Given the description of an element on the screen output the (x, y) to click on. 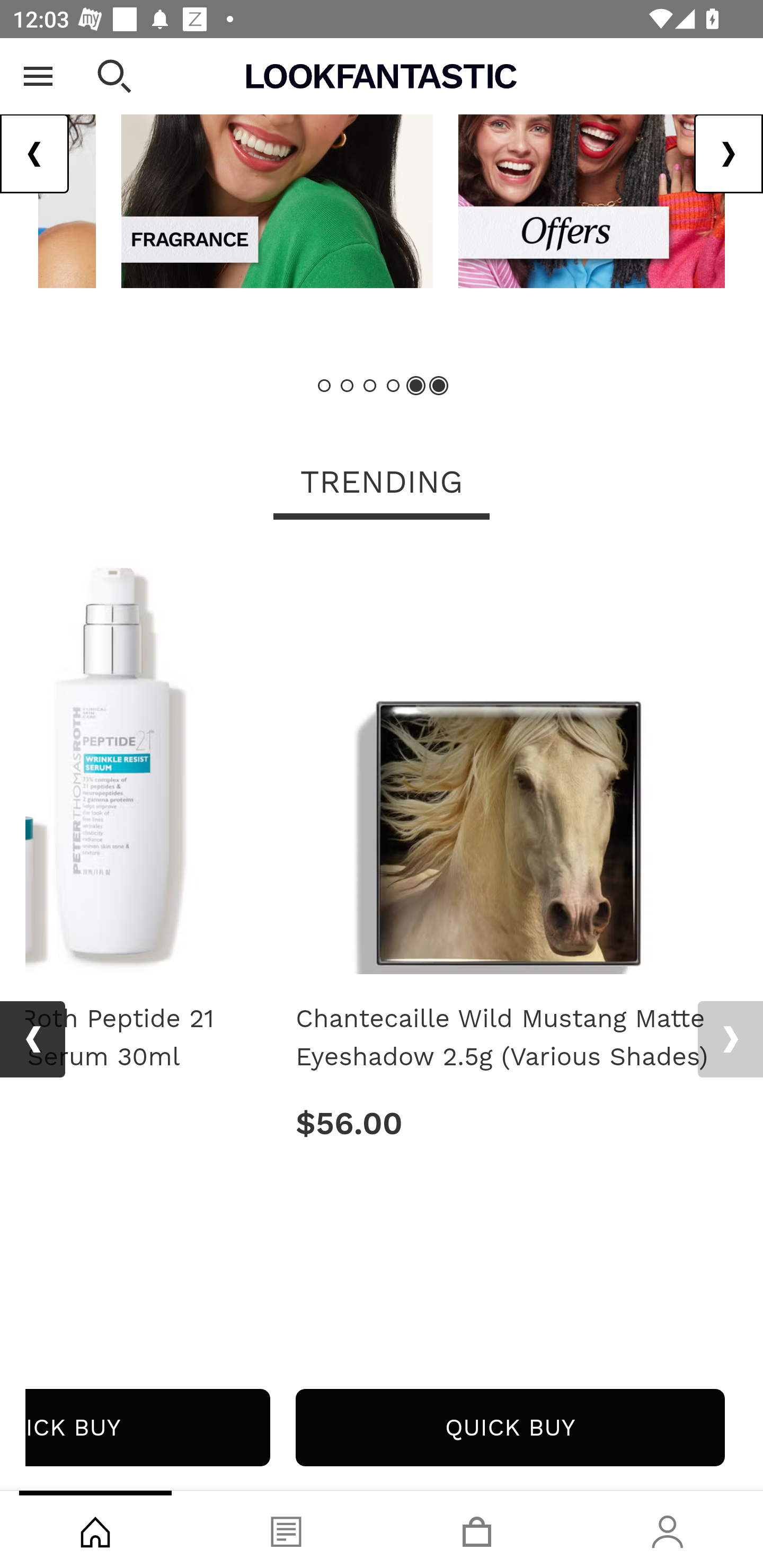
Previous (35, 155)
Next (727, 155)
Slide 1 (324, 386)
Slide 2 (347, 386)
Slide 3 (369, 386)
Slide 4 (393, 386)
Showing Slide 5 (Current Item) (415, 386)
Showing Slide 6 (Current Item) (437, 386)
TRENDING (381, 484)
Previous (32, 1039)
Next (730, 1039)
Price: $56.00 (510, 1123)
Shop, tab, 1 of 4 (95, 1529)
Blog, tab, 2 of 4 (285, 1529)
Basket, tab, 3 of 4 (476, 1529)
Account, tab, 4 of 4 (667, 1529)
